Given the description of an element on the screen output the (x, y) to click on. 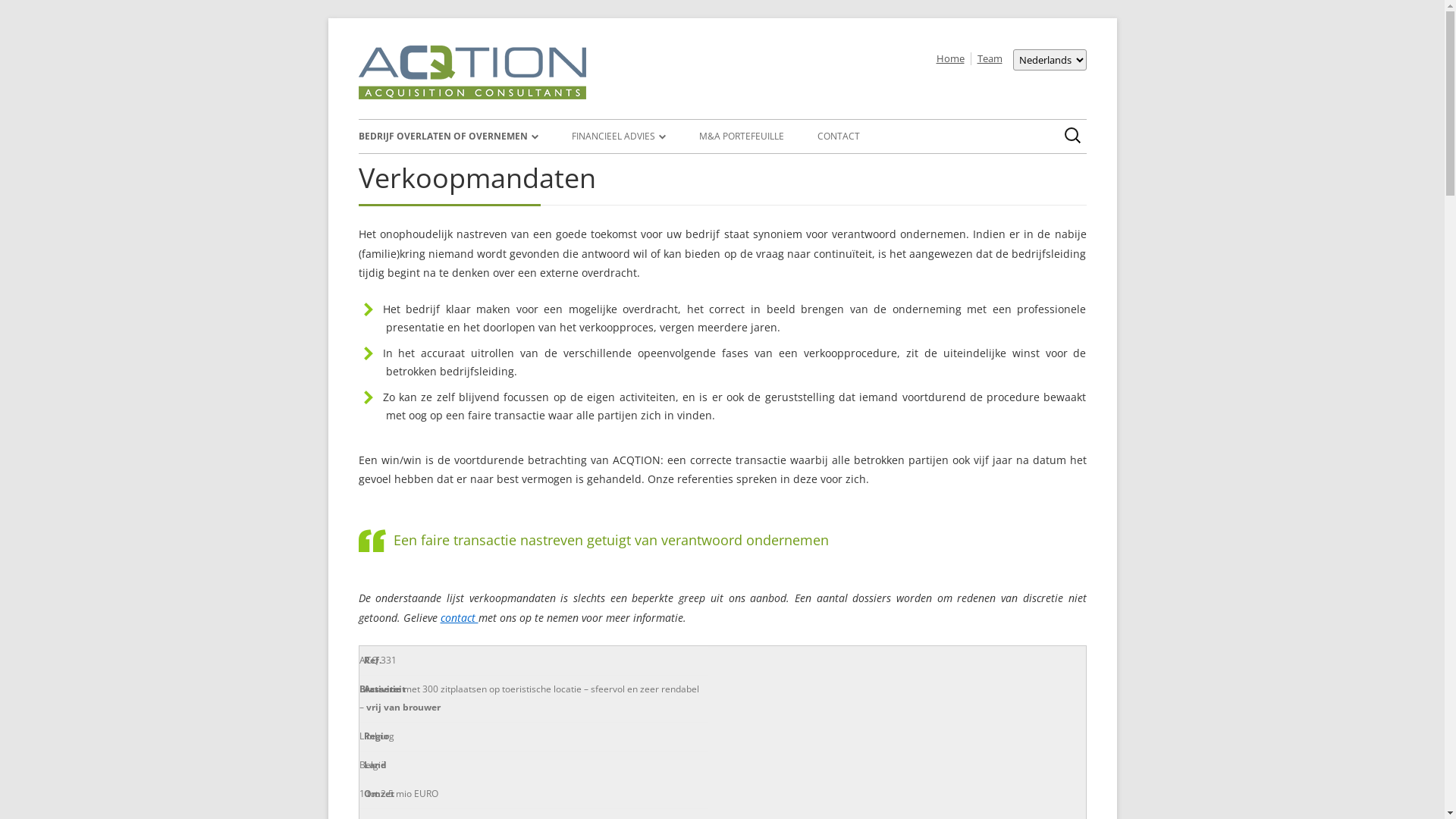
VERKOOPMANDATEN Element type: text (433, 168)
ONDERNEMINGSPLAN Element type: text (647, 168)
Team Element type: text (987, 58)
Search for: Element type: hover (1072, 135)
Search Element type: text (21, 11)
contact Element type: text (458, 617)
FINANCIEEL ADVIES Element type: text (618, 136)
CONTACT Element type: text (838, 136)
Skip to content Element type: text (767, 45)
Home Element type: text (947, 58)
BEDRIJF OVERLATEN OF OVERNEMEN Element type: text (447, 136)
M&A PORTEFEUILLE Element type: text (741, 136)
